Given the description of an element on the screen output the (x, y) to click on. 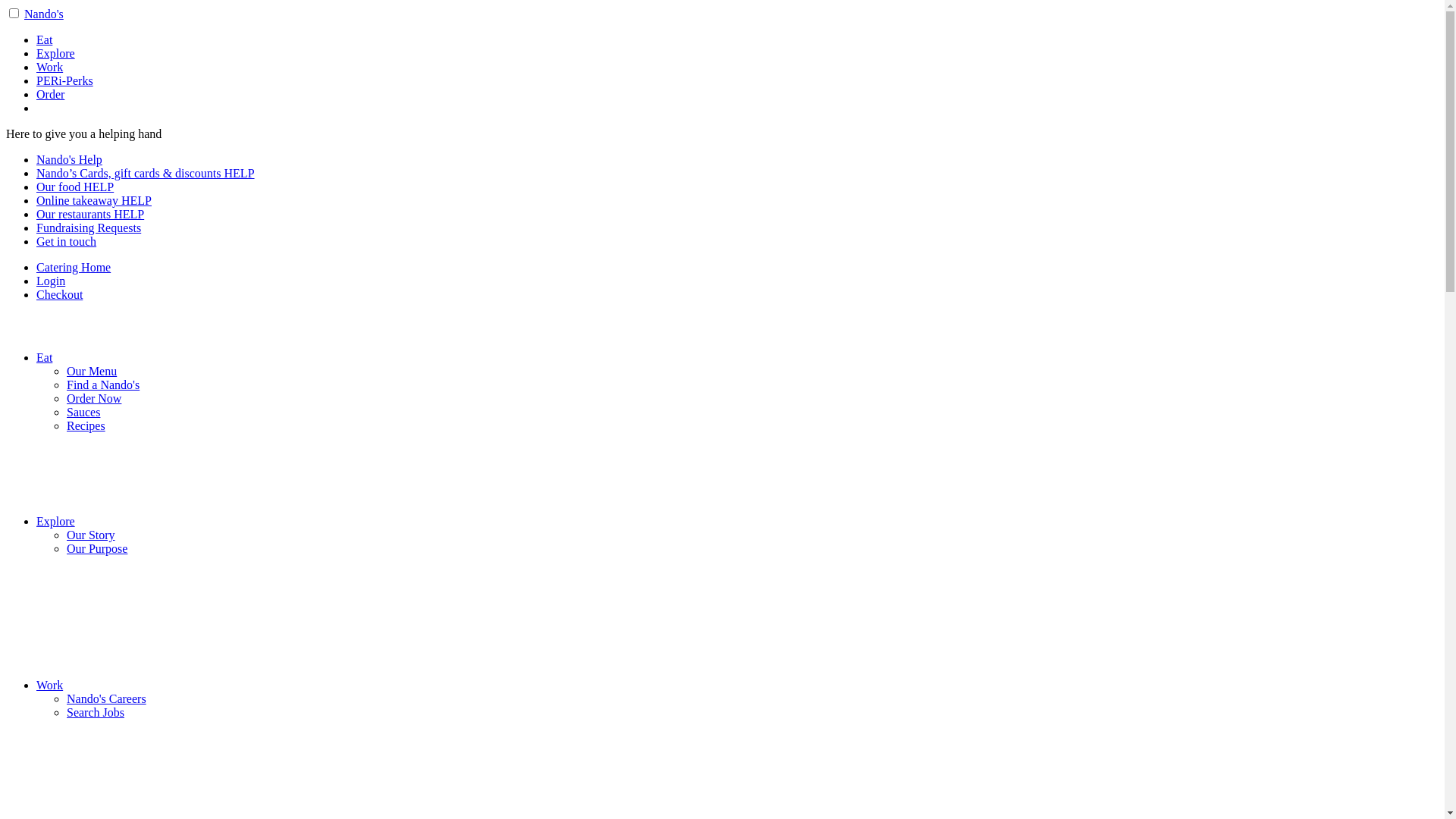
Checkout Element type: text (59, 294)
Nando's Help Element type: text (69, 159)
PERi-Perks Element type: text (64, 80)
Work Element type: text (49, 66)
Nando's Careers Element type: text (106, 698)
Fundraising Requests Element type: text (88, 227)
Our Purpose Element type: text (96, 548)
Work Element type: text (49, 684)
Find a Nando's Element type: text (102, 384)
Our Story Element type: text (90, 534)
Eat Element type: text (44, 357)
Nando's Element type: text (43, 13)
Order Now Element type: text (93, 398)
Sauces Element type: text (83, 411)
Our Menu Element type: text (91, 370)
Catering Home Element type: text (73, 266)
Explore Element type: text (55, 53)
Our restaurants HELP Element type: text (90, 213)
Eat Element type: text (44, 39)
Explore Element type: text (55, 520)
Login Element type: text (50, 280)
Search Jobs Element type: text (95, 712)
Our food HELP Element type: text (74, 186)
Recipes Element type: text (85, 425)
Order Element type: text (50, 93)
Get in touch Element type: text (66, 241)
Online takeaway HELP Element type: text (93, 200)
